Given the description of an element on the screen output the (x, y) to click on. 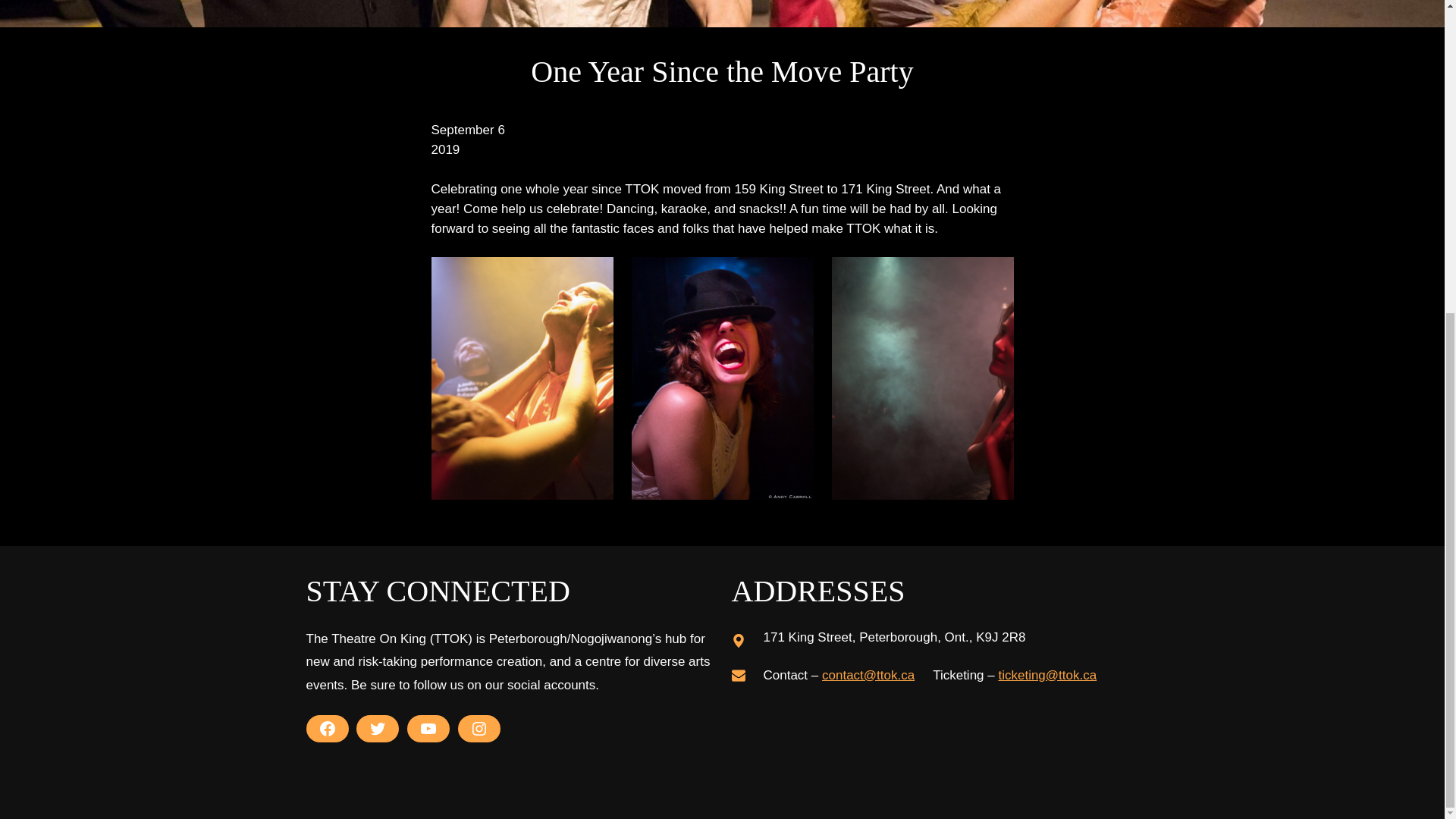
YouTube (428, 728)
Twitter (377, 728)
Instagram (479, 728)
Facebook (327, 728)
